Given the description of an element on the screen output the (x, y) to click on. 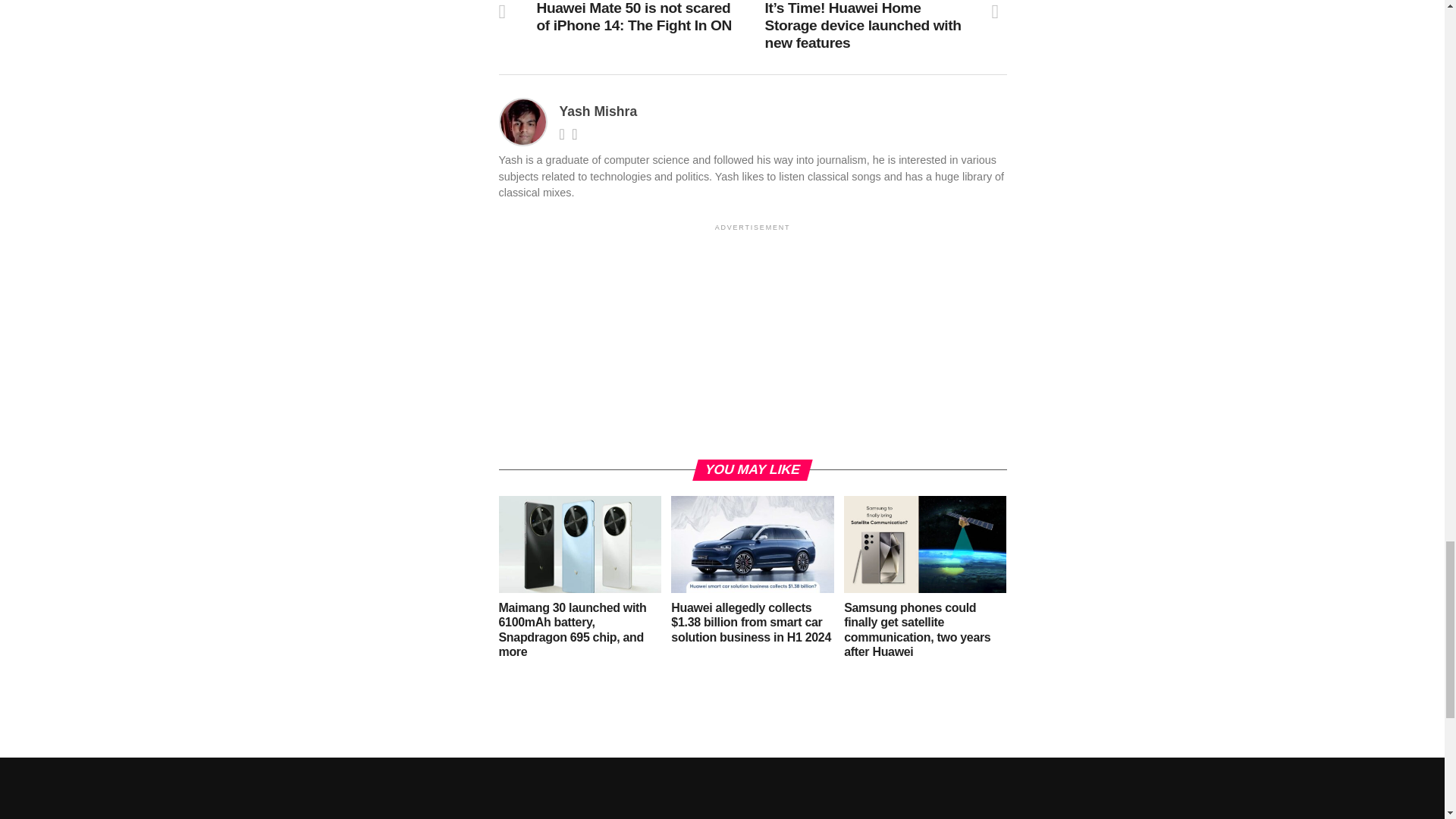
Advertisement (721, 791)
Posts by Yash Mishra (598, 111)
Advertisement (753, 340)
